Given the description of an element on the screen output the (x, y) to click on. 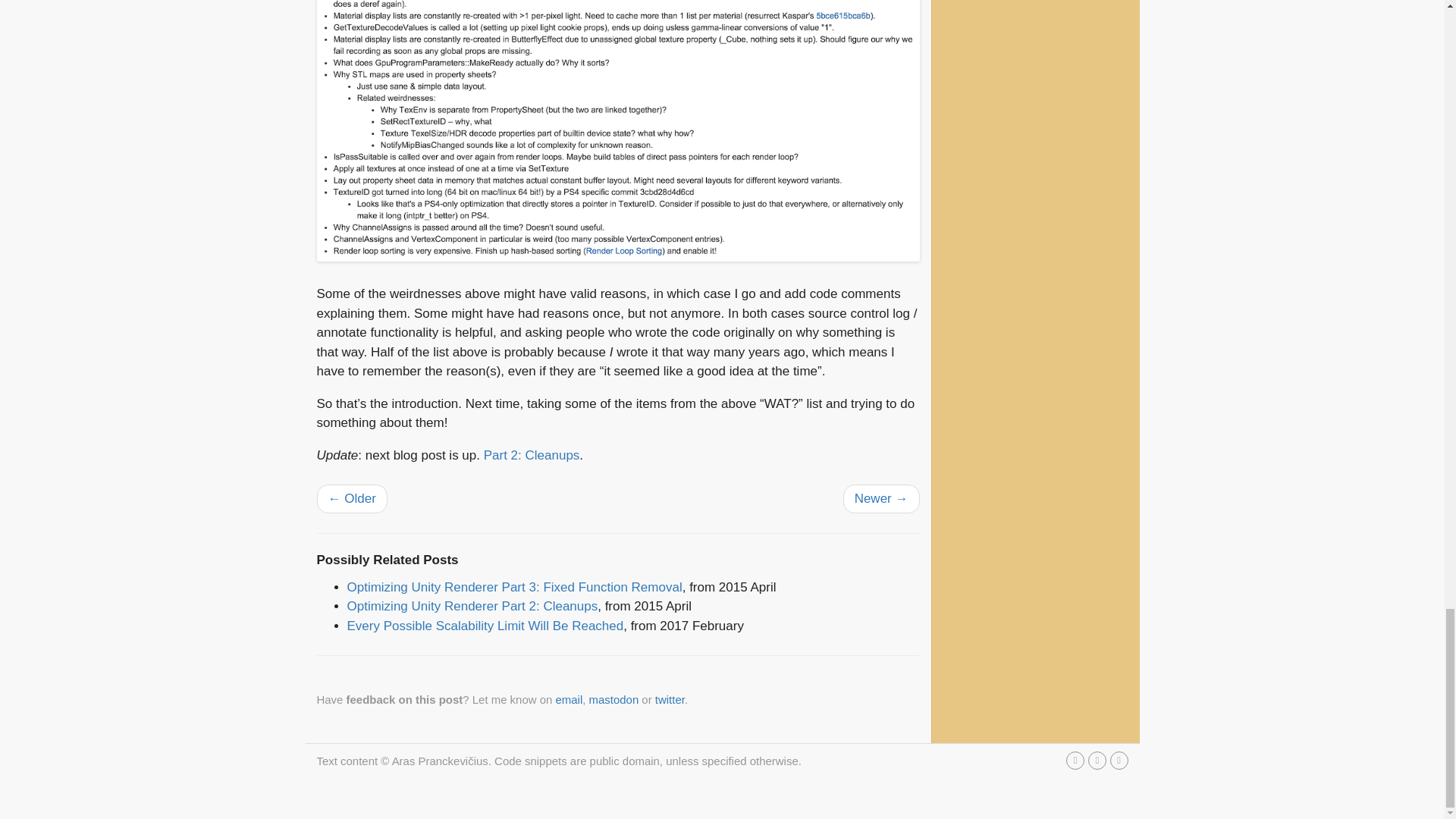
twitter (669, 698)
email (568, 698)
Part 2: Cleanups (531, 454)
Optimizing Unity Renderer Part 2: Cleanups (472, 605)
mastodon (614, 698)
Optimizing Unity Renderer Part 3: Fixed Function Removal (514, 586)
Every Possible Scalability Limit Will Be Reached (485, 626)
